Given the description of an element on the screen output the (x, y) to click on. 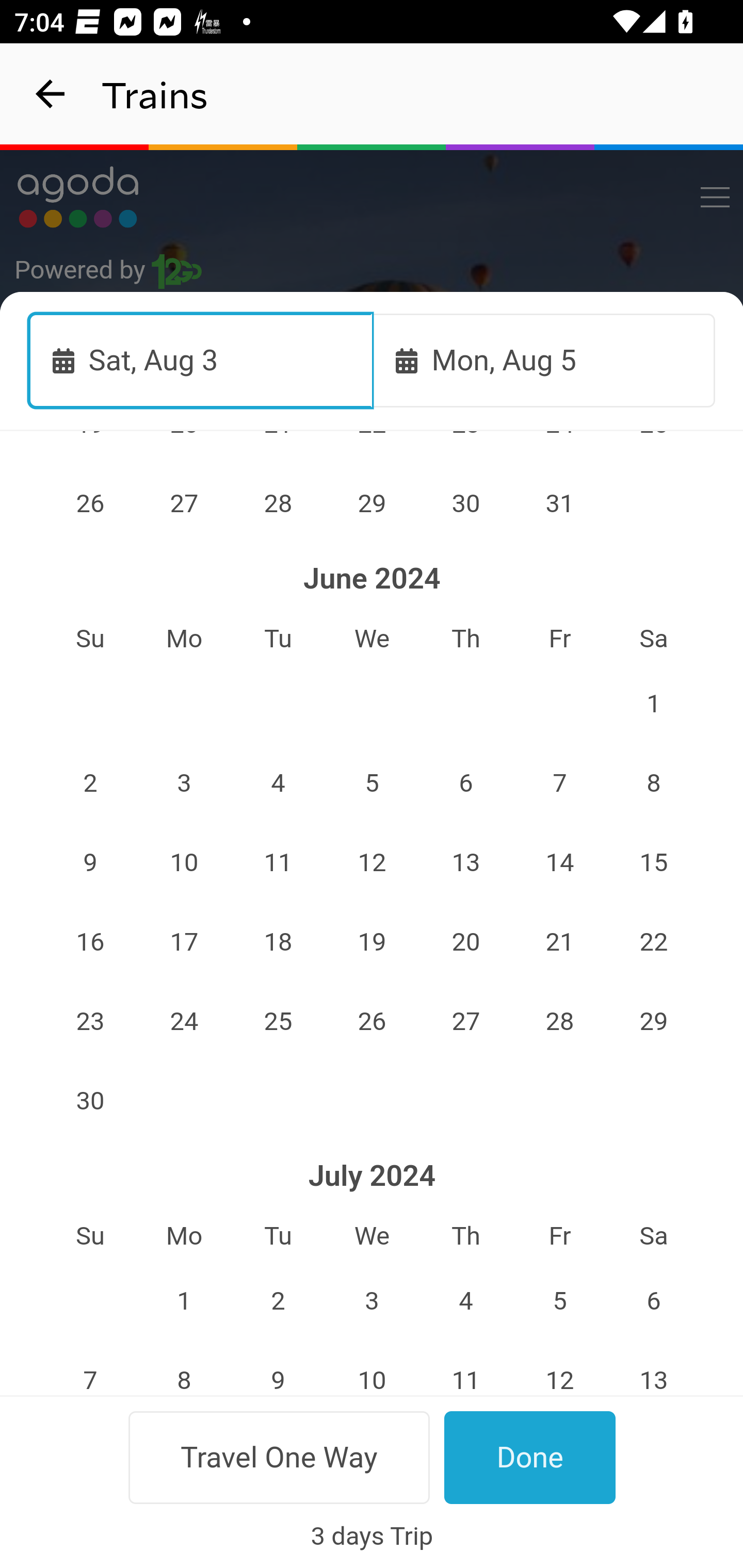
navigation_button (50, 93)
Sat, Aug 3 (200, 359)
Mon, Aug 5 (544, 359)
26 (90, 503)
27 (184, 503)
28 (278, 503)
29 (372, 503)
30 (465, 503)
31 (559, 503)
Leeds Swap trip points (372, 576)
Liverpool (372, 670)
1 (654, 703)
2 (90, 782)
3 (184, 782)
4 (278, 782)
5 (372, 782)
6 (465, 782)
7 (559, 782)
8 (654, 782)
9 (90, 862)
10 (184, 862)
11 (278, 862)
12 (372, 862)
13 (465, 862)
14 (559, 862)
15 (654, 862)
16 (90, 941)
17 (184, 941)
18 (278, 941)
19 (372, 941)
20 (465, 941)
21 (559, 941)
22 (654, 941)
23 (90, 1020)
24 (184, 1020)
25 (278, 1020)
26 (372, 1020)
27 (465, 1020)
28 (559, 1020)
29 (654, 1020)
30 (90, 1100)
1 (184, 1301)
2 (278, 1301)
3 (372, 1301)
4 (465, 1301)
5 (559, 1301)
6 (654, 1301)
7 (90, 1367)
8 (184, 1367)
9 (278, 1367)
